Given the description of an element on the screen output the (x, y) to click on. 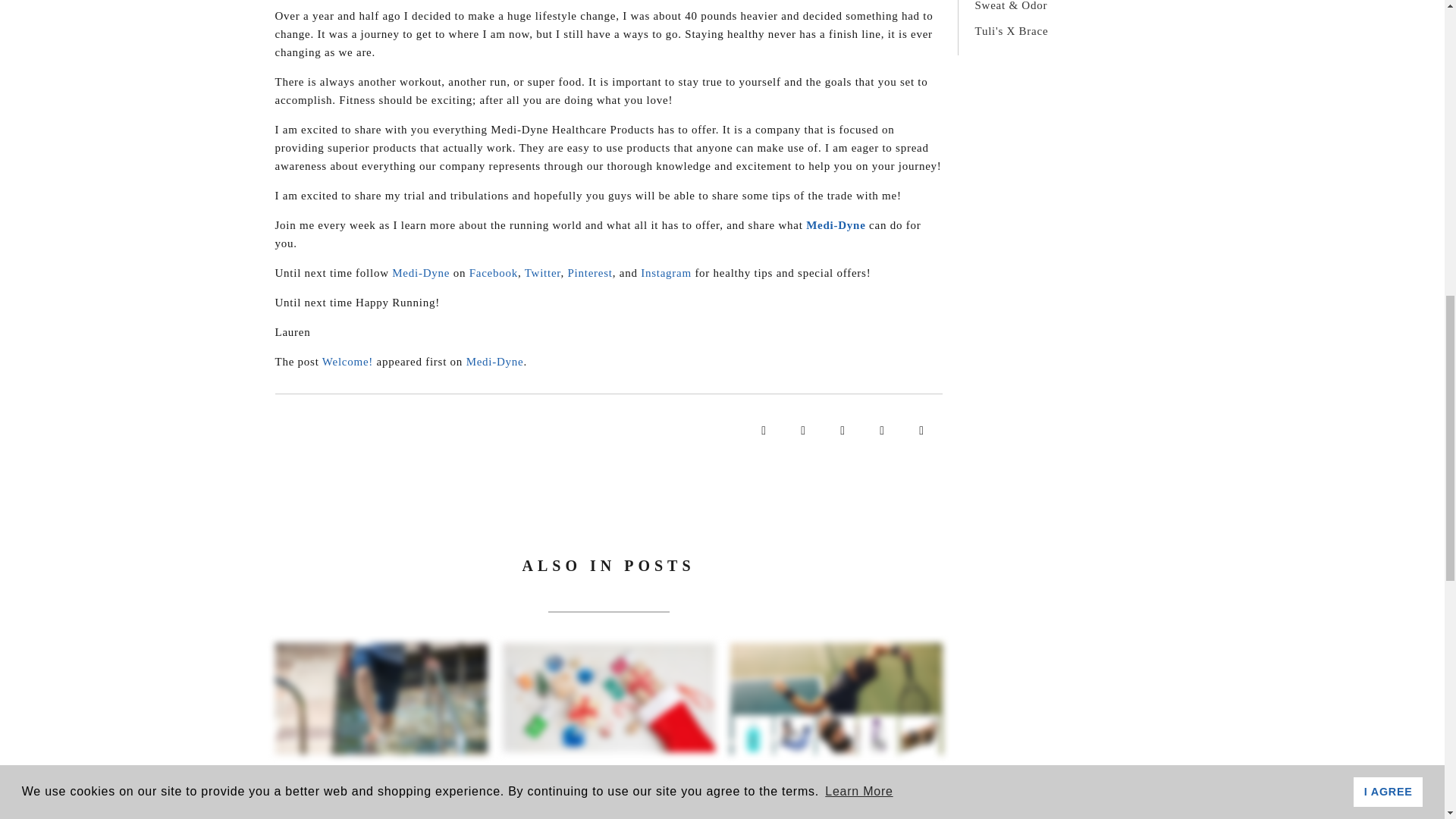
Medi-Dyne website (420, 272)
Welcome! blog post (346, 361)
Medi-Dyne Facebook Page (493, 272)
Medi-Dyne Pinterest Shop (589, 272)
Medi-Dyne Twitter Page (542, 272)
Share this on Facebook (763, 432)
Share this on Twitter (802, 432)
Medi-Dyne website (835, 224)
Medi-Dyne Instagram Page (665, 272)
Medi-Dyne Website (494, 361)
